Given the description of an element on the screen output the (x, y) to click on. 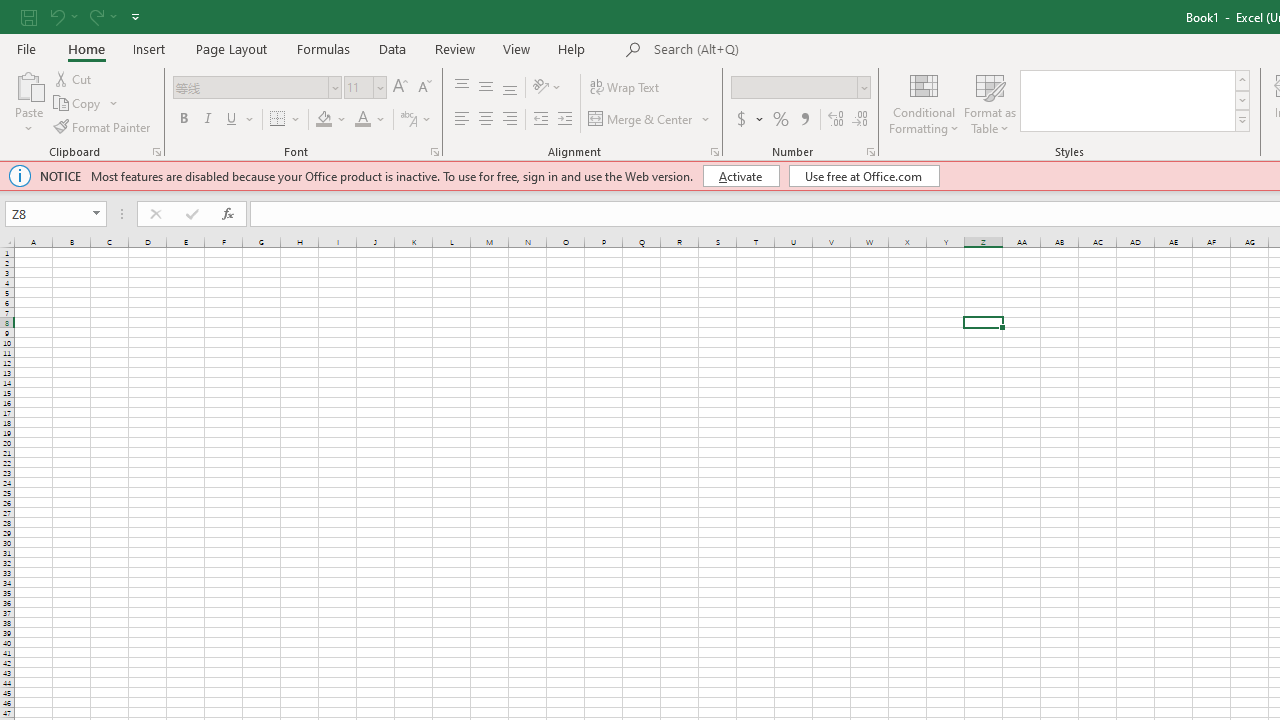
Redo (95, 15)
Use free at Office.com (863, 175)
Page Layout (230, 48)
System (10, 11)
Font Size (358, 87)
Center (485, 119)
